Given the description of an element on the screen output the (x, y) to click on. 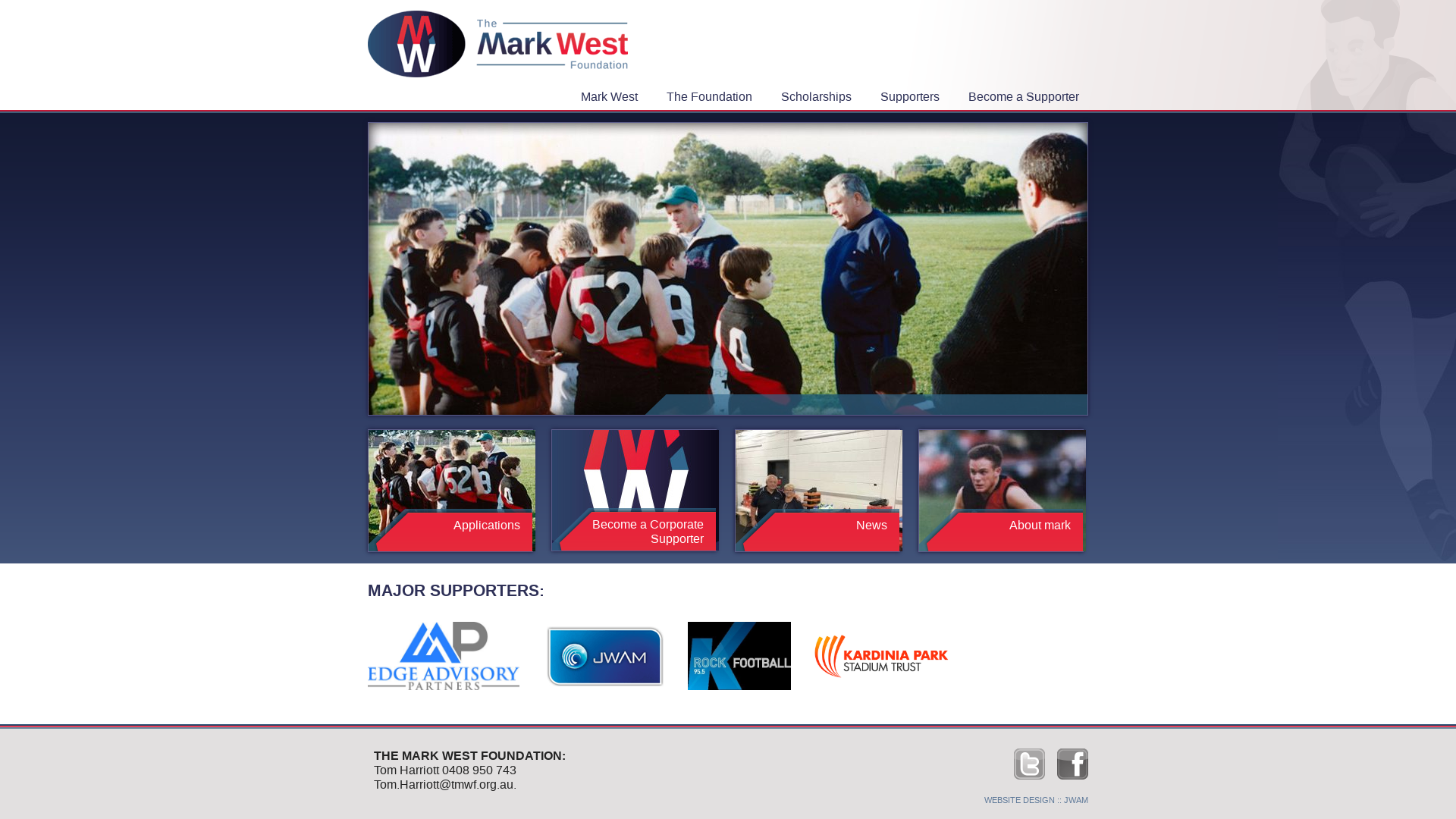
Applications Element type: text (444, 524)
Mark West Element type: text (613, 95)
Supporters Element type: text (914, 95)
Become a Corporate Supporter Element type: text (627, 531)
About mark Element type: text (994, 524)
News Element type: text (811, 524)
Scholarships Element type: text (820, 95)
The Foundation Element type: text (713, 95)
JWAM Element type: text (1075, 800)
Become a Supporter Element type: text (1028, 95)
